Given the description of an element on the screen output the (x, y) to click on. 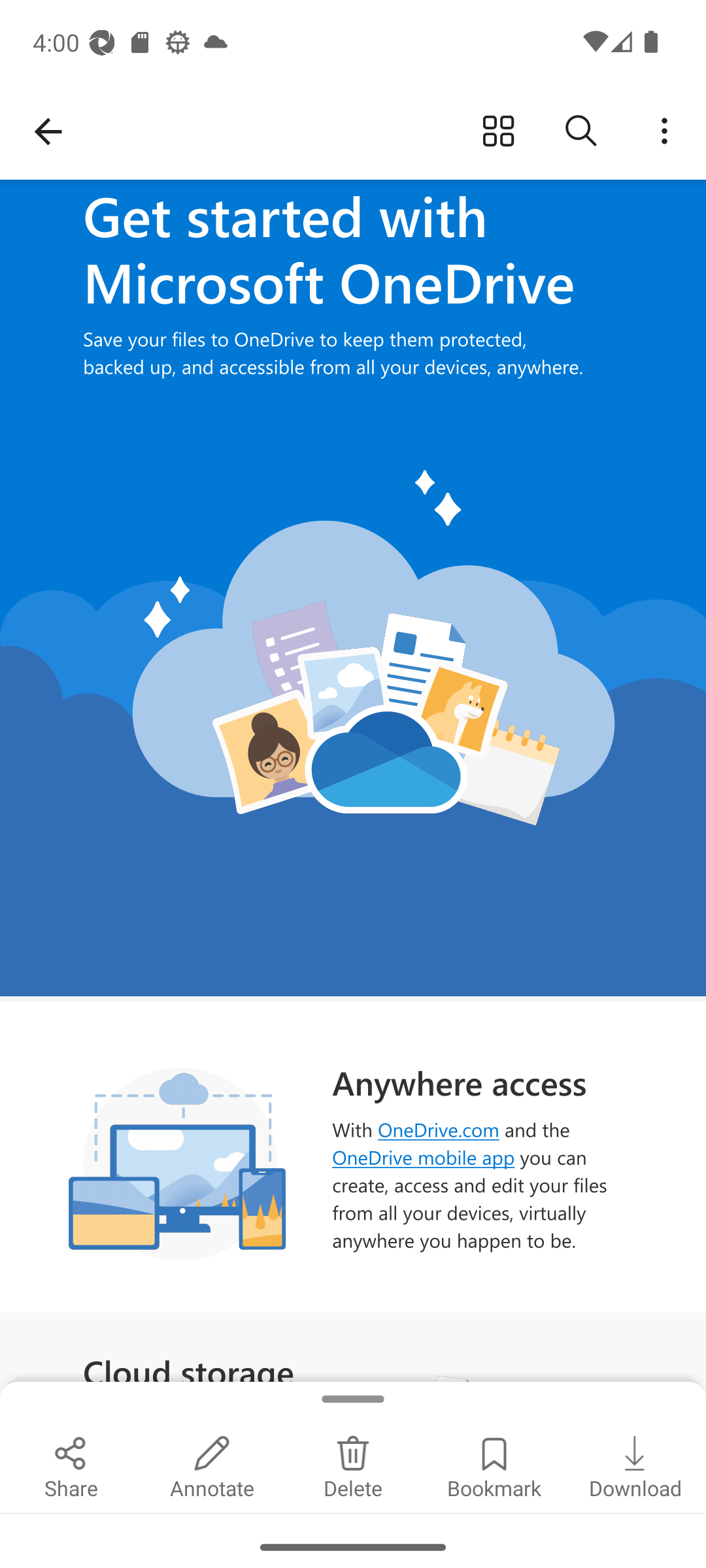
Navigate up (48, 131)
button (498, 131)
button (581, 131)
button (664, 131)
Share (70, 1464)
Annotate (211, 1464)
Delete (352, 1464)
Bookmark, unselected Bookmark (493, 1464)
Download (635, 1464)
